Given the description of an element on the screen output the (x, y) to click on. 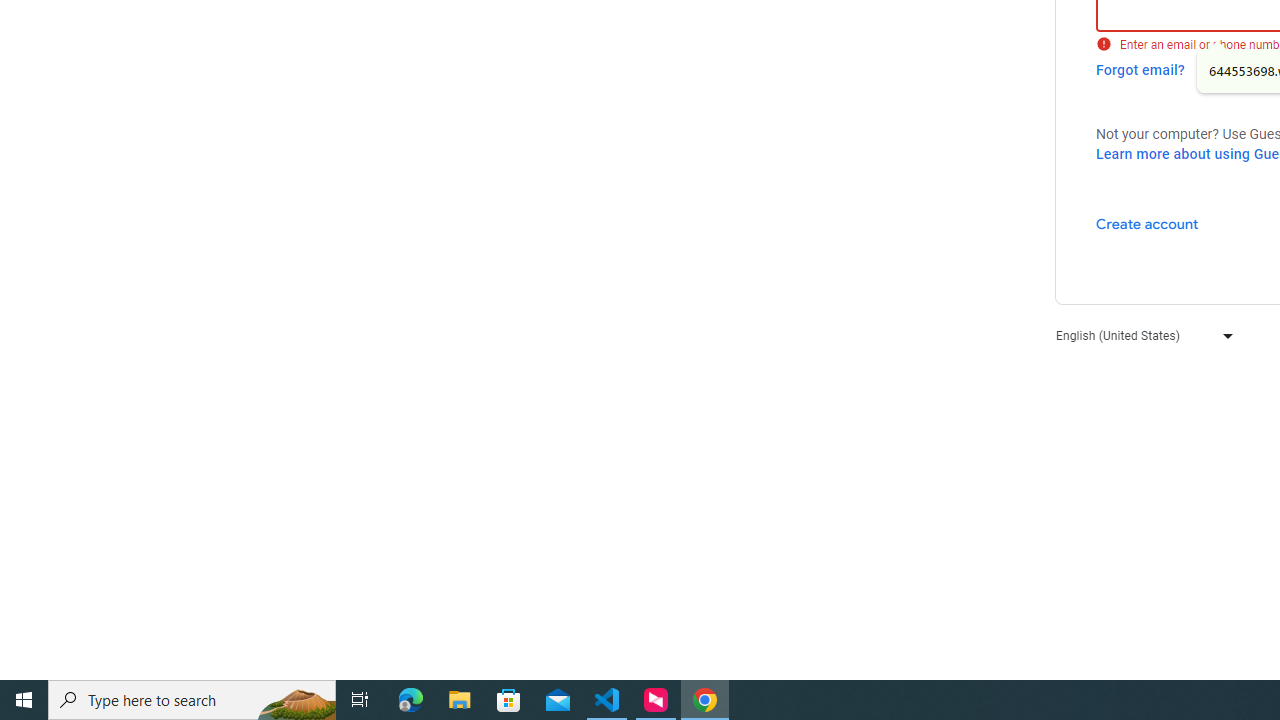
Forgot email? (1140, 69)
Create account (1146, 223)
English (United States) (1139, 335)
